Given the description of an element on the screen output the (x, y) to click on. 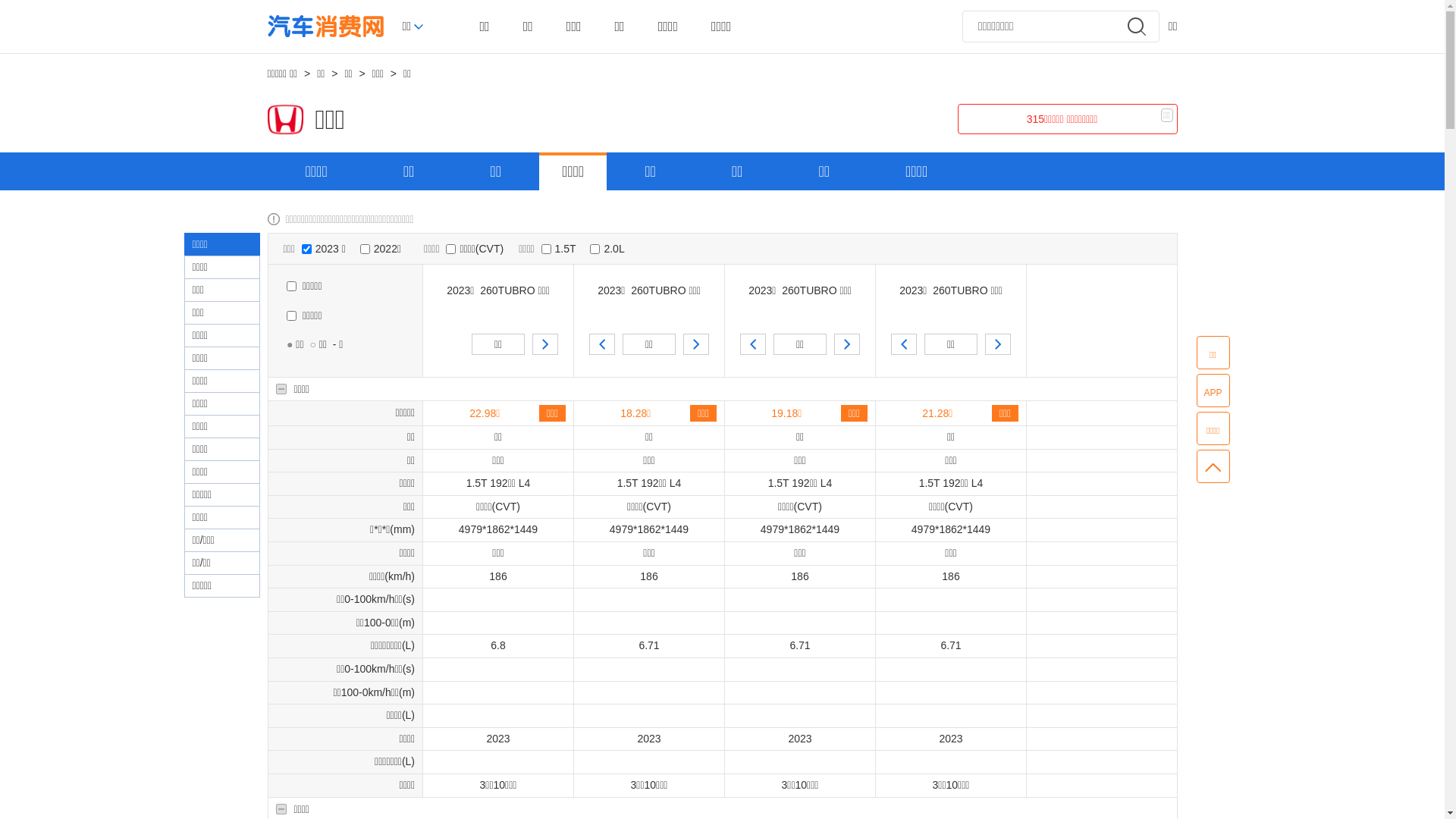
APP Element type: text (1213, 390)
